Given the description of an element on the screen output the (x, y) to click on. 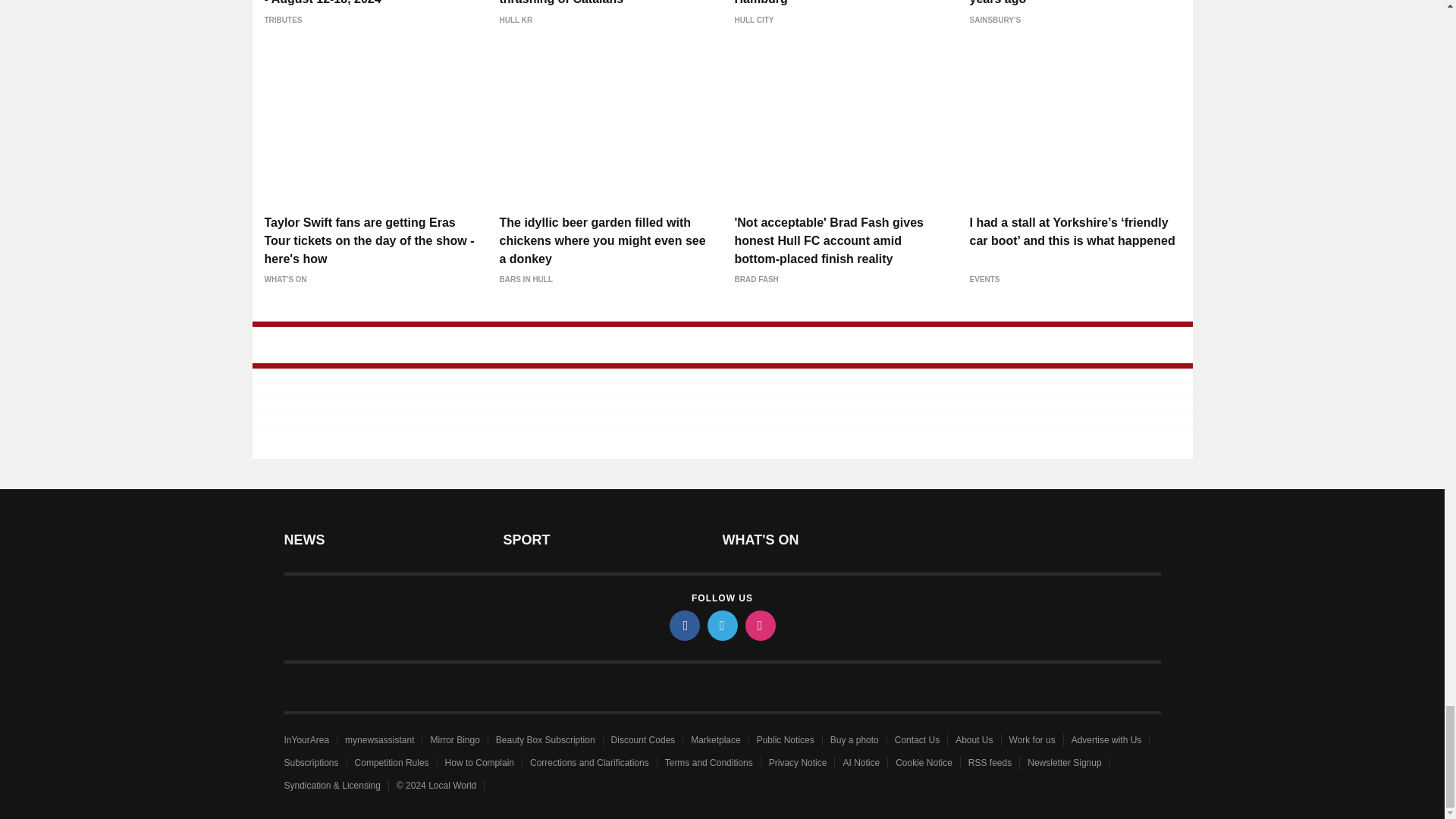
twitter (721, 625)
facebook (683, 625)
instagram (759, 625)
